Given the description of an element on the screen output the (x, y) to click on. 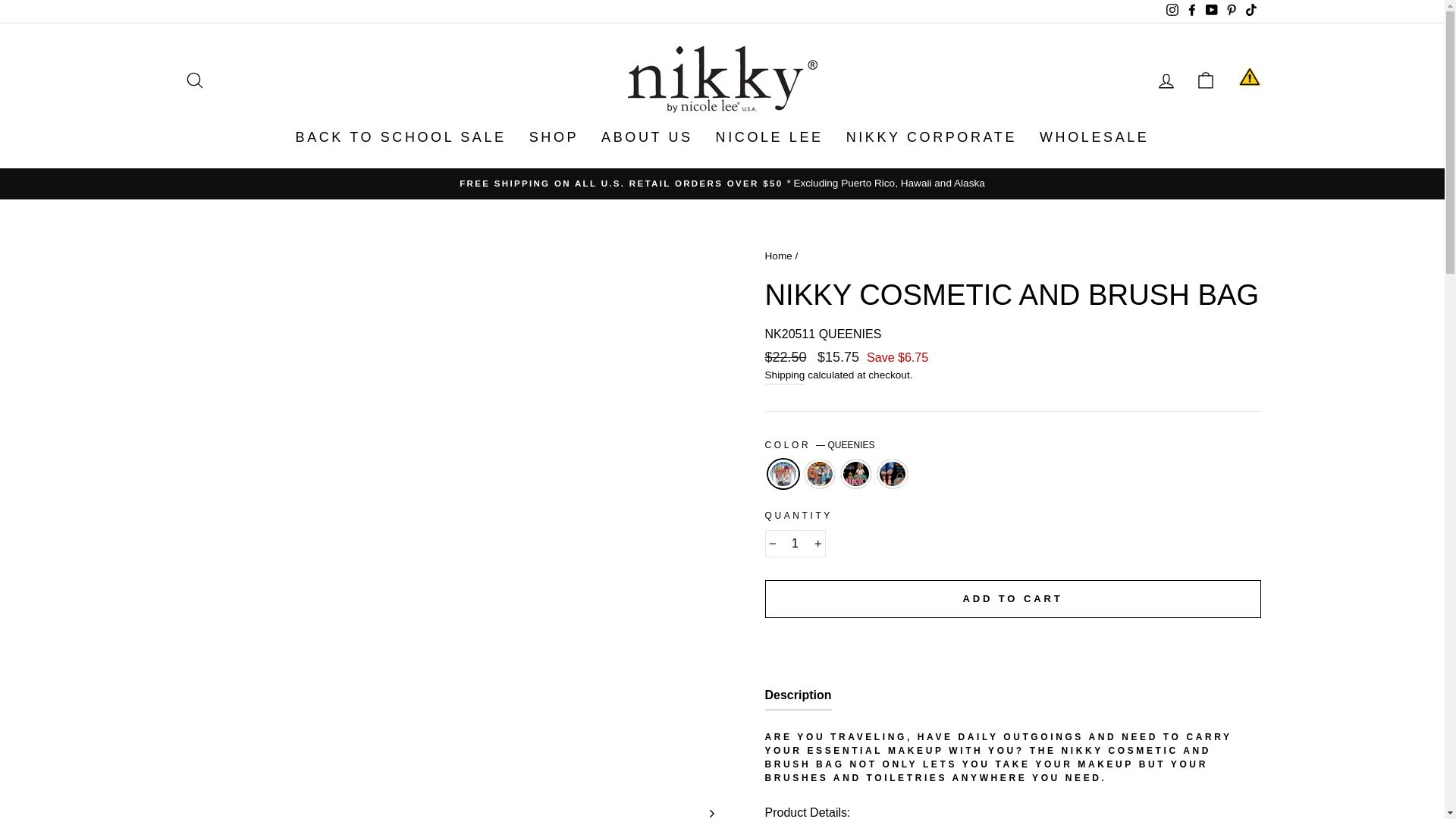
Back to the frontpage (778, 255)
1 (794, 543)
